Given the description of an element on the screen output the (x, y) to click on. 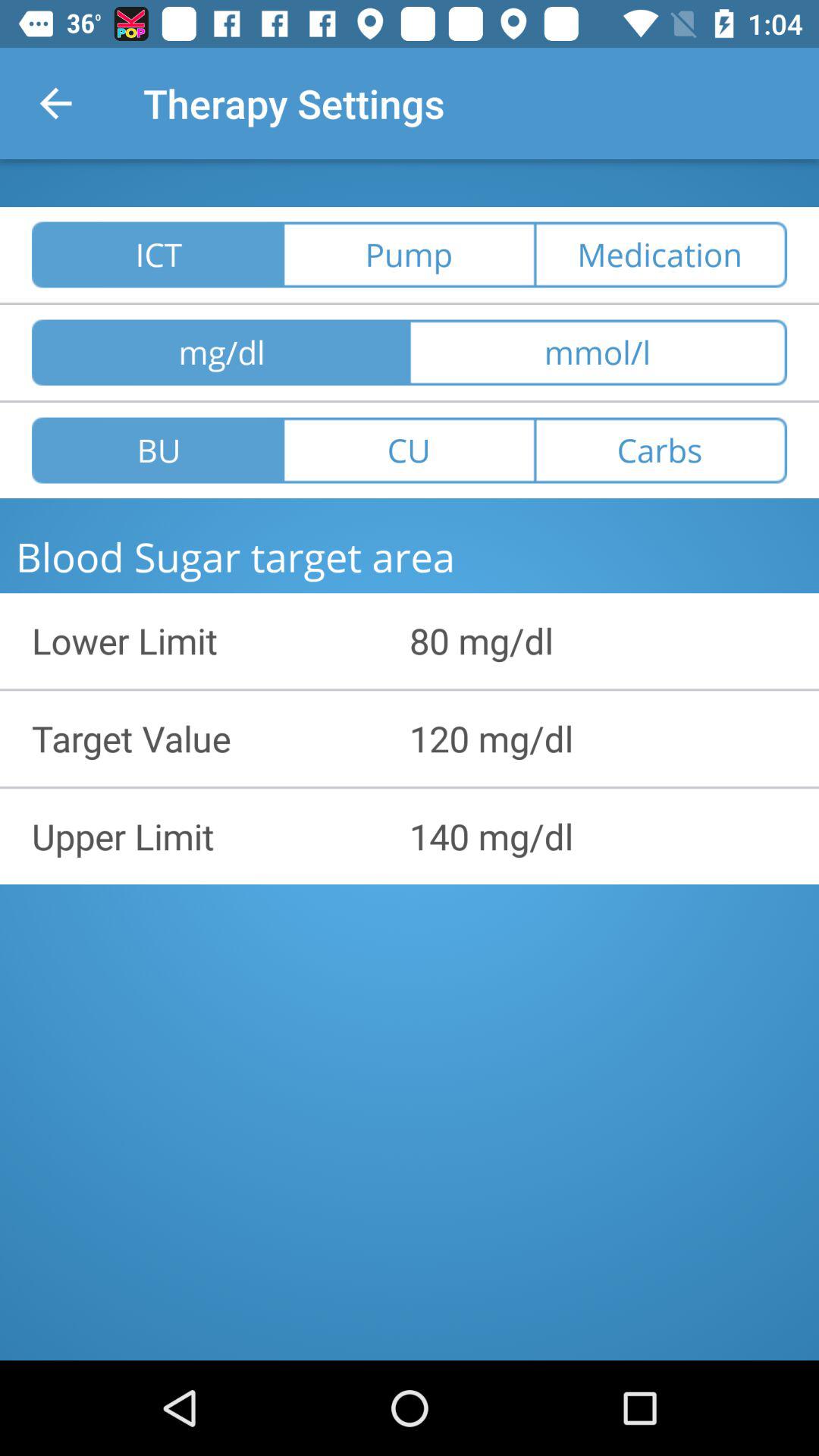
press the item next to the therapy settings icon (55, 103)
